Given the description of an element on the screen output the (x, y) to click on. 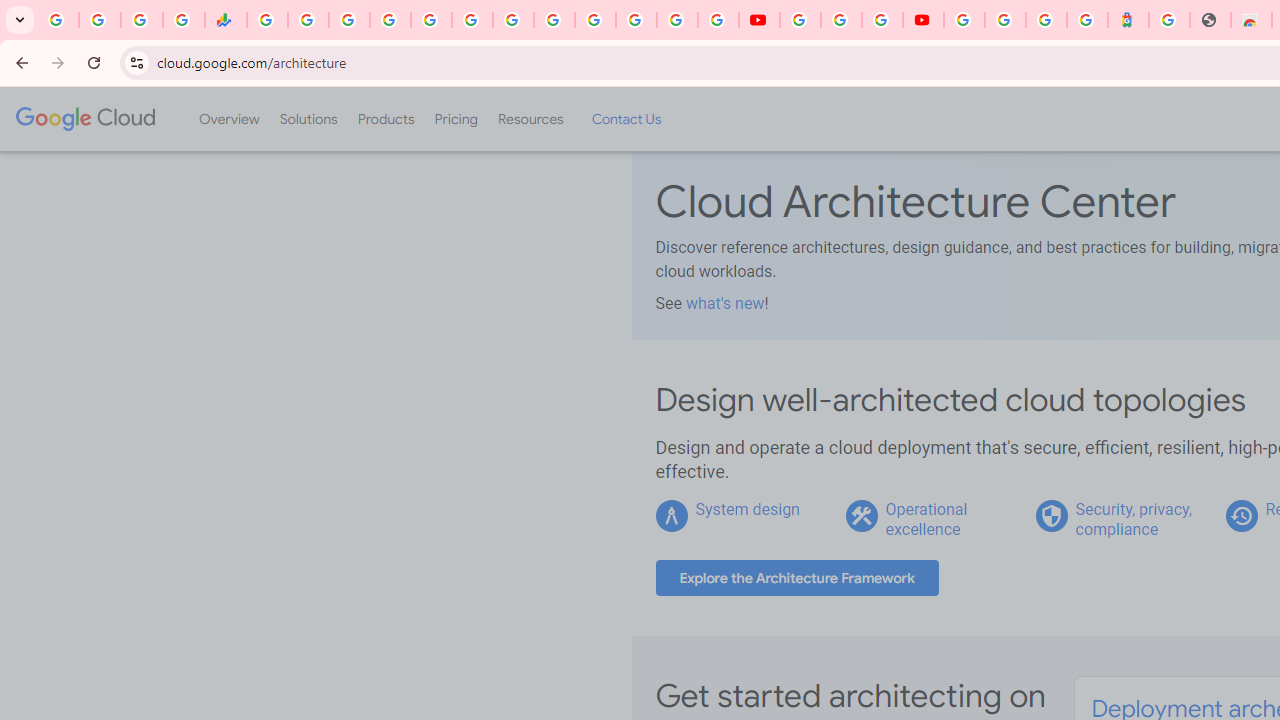
Pricing (455, 119)
Atour Hotel - Google hotels (1128, 20)
Sign in - Google Accounts (1005, 20)
